Given the description of an element on the screen output the (x, y) to click on. 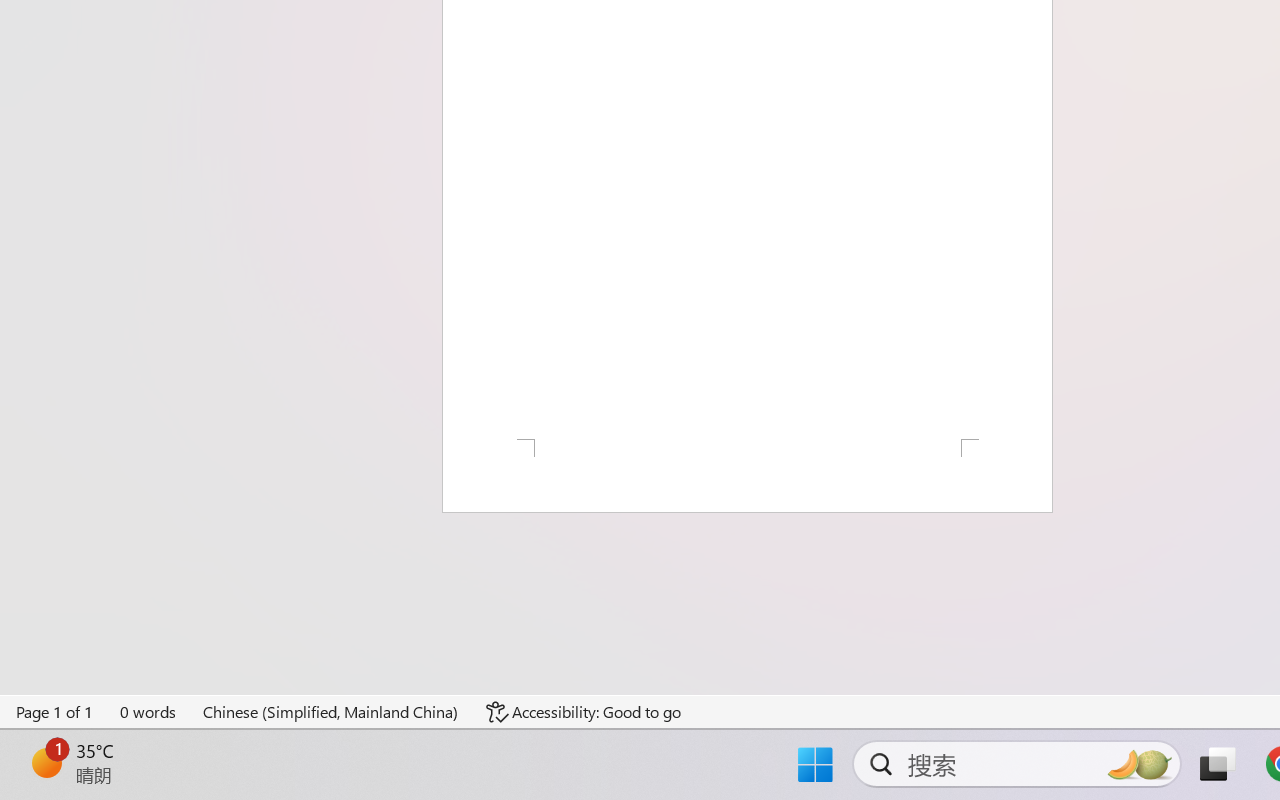
Language Chinese (Simplified, Mainland China) (331, 712)
